Given the description of an element on the screen output the (x, y) to click on. 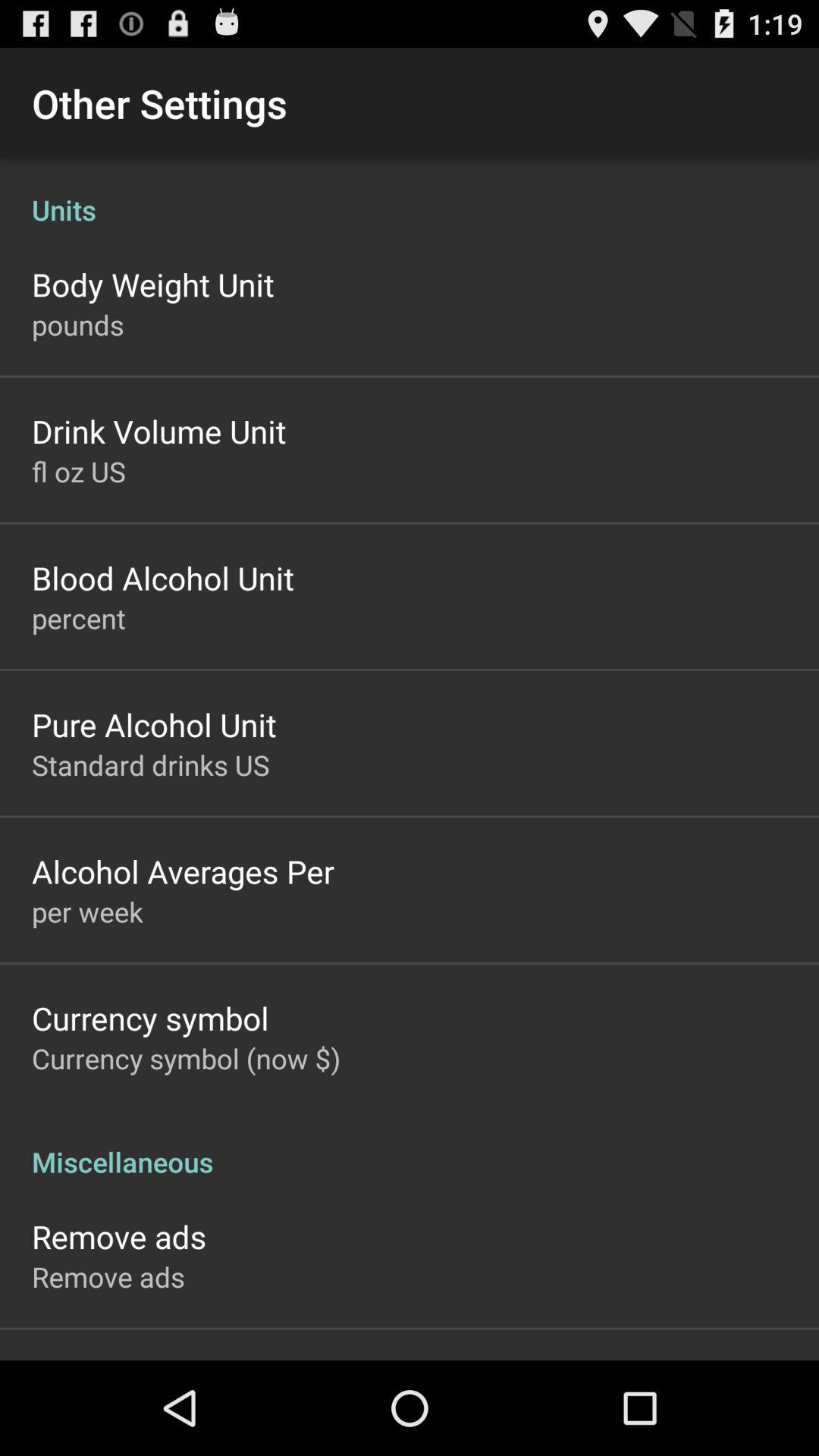
turn off item above alcohol averages per app (150, 764)
